Given the description of an element on the screen output the (x, y) to click on. 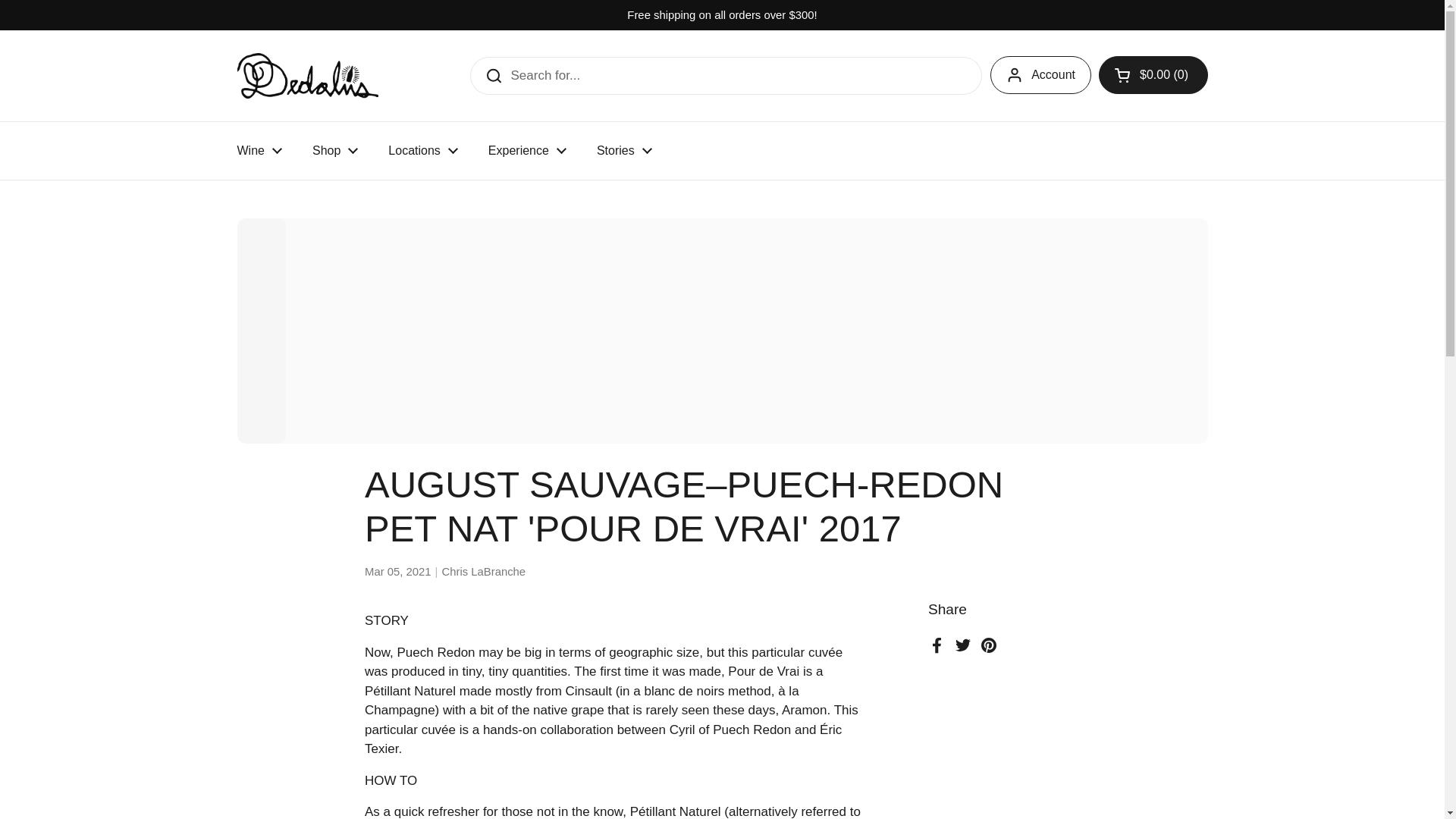
Wine (259, 150)
Account (1040, 75)
Dedalus Wine Shop (306, 75)
Open cart (1153, 75)
